Given the description of an element on the screen output the (x, y) to click on. 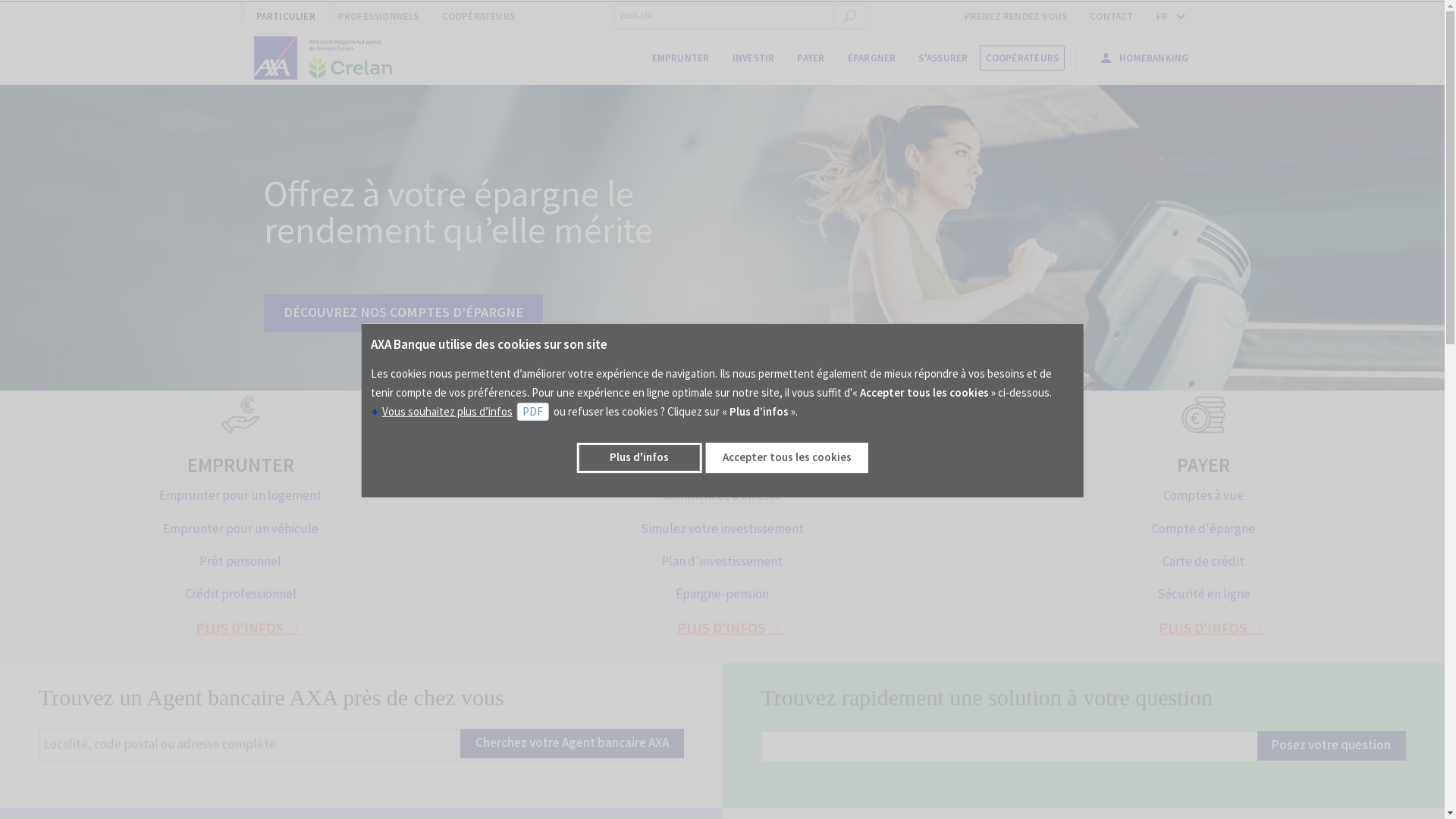
PRENEZ RENDEZ VOUS Element type: text (1016, 16)
Simulez votre investissement Element type: text (721, 528)
EMPRUNTER Element type: text (680, 57)
S'ASSURER Element type: text (942, 57)
FR Element type: text (1167, 16)
Emprunter pour un logement Element type: text (240, 494)
Plus d'infos Element type: text (639, 457)
AXA Banque Element type: text (329, 57)
Accepter tous les cookies Element type: text (787, 457)
HOMEBANKING Element type: text (1143, 57)
Cherchez Element type: text (849, 16)
INVESTIR Element type: text (721, 464)
PARTICULIER Element type: text (285, 16)
PAYER Element type: text (810, 57)
Cherchez votre Agent bancaire AXA Element type: text (572, 743)
INVESTIR Element type: text (753, 57)
PAYER Element type: text (1203, 464)
PROFESSIONNELS Element type: text (378, 16)
CONTACT Element type: text (1111, 16)
Posez votre question Element type: text (1331, 745)
EMPRUNTER Element type: text (240, 464)
Plan d'investissement Element type: text (721, 560)
